Given the description of an element on the screen output the (x, y) to click on. 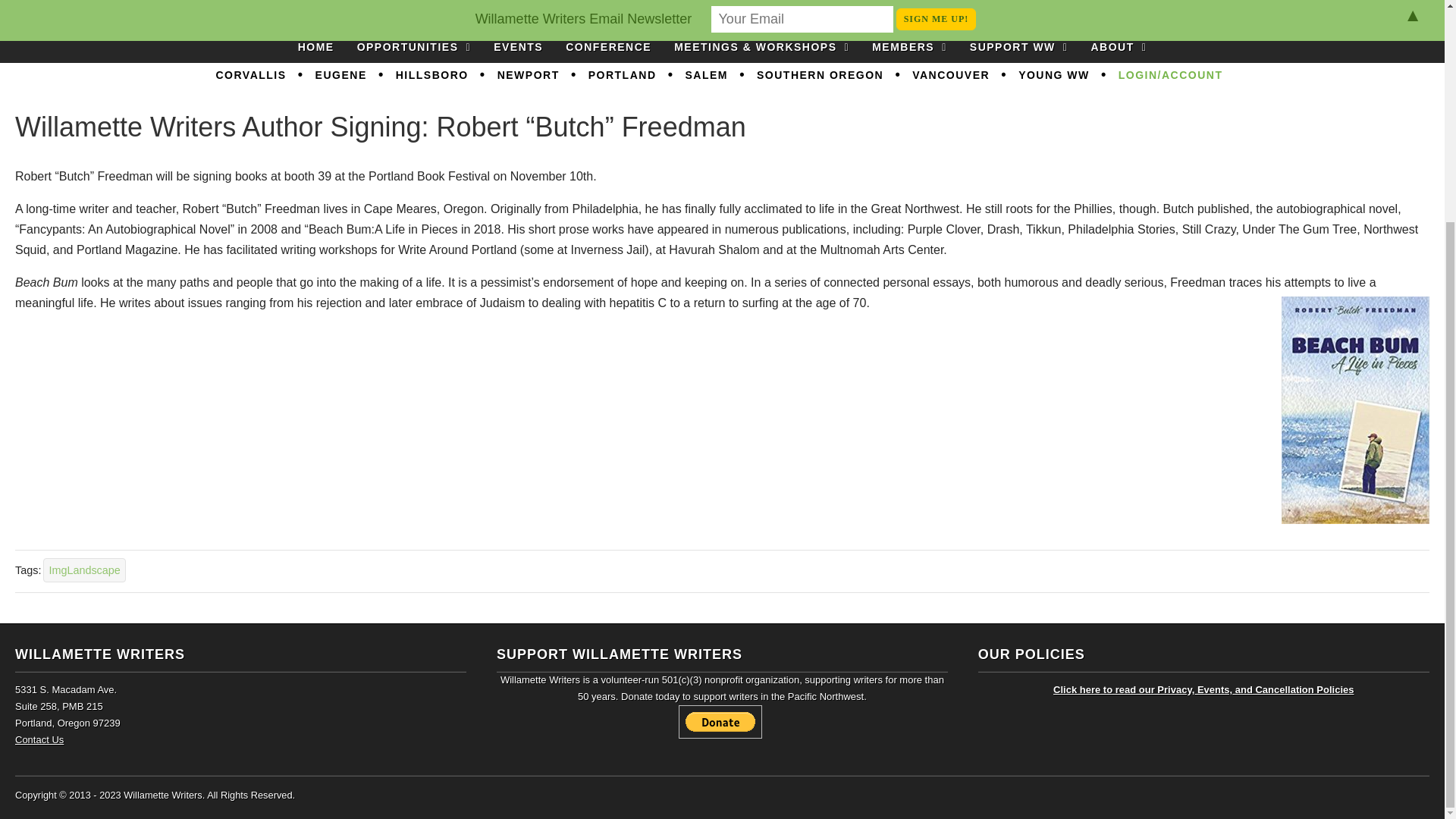
Skip to content (768, 41)
MEMBERS (909, 47)
Our Southern Oregon Chapter in Central Point (820, 75)
HILLSBORO (432, 75)
SUPPORT WW (1019, 47)
CONFERENCE (608, 47)
NEWPORT (528, 75)
HOME (316, 47)
Our Mid-Valley Chapter in Eugene (341, 75)
Our Portland Chapter (622, 75)
EUGENE (341, 75)
Our Salem Chapter (706, 75)
Skip to content (768, 41)
Our Coast Chapter in Newport (528, 75)
